Given the description of an element on the screen output the (x, y) to click on. 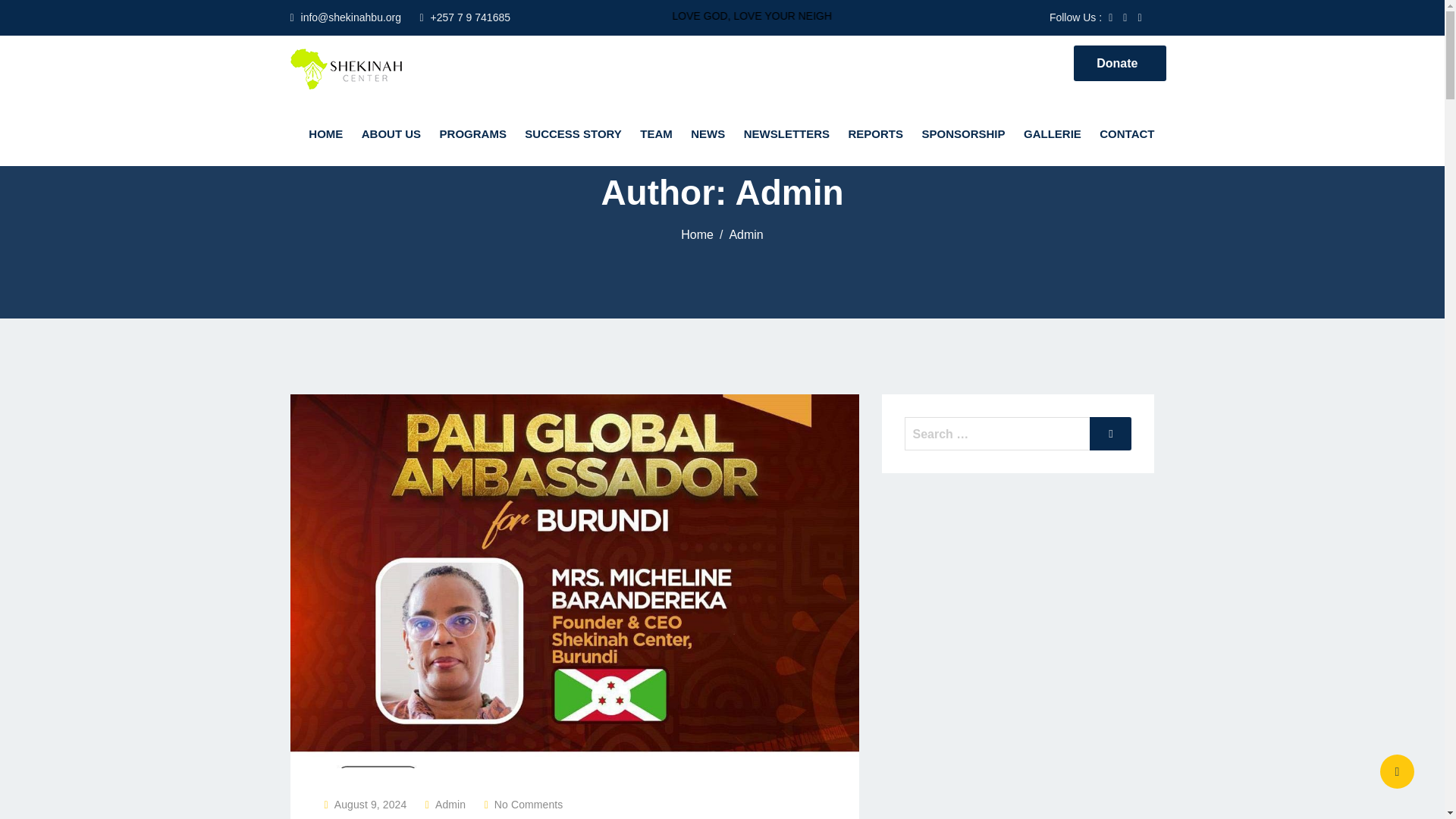
CONTACT (1123, 134)
REPORTS (876, 134)
NEWSLETTERS (786, 134)
GALLERIE (1052, 134)
Donate (1120, 63)
Admin (450, 804)
ABOUT US (390, 134)
SPONSORSHIP (963, 134)
PROGRAMS (472, 134)
No Comments (529, 804)
